Given the description of an element on the screen output the (x, y) to click on. 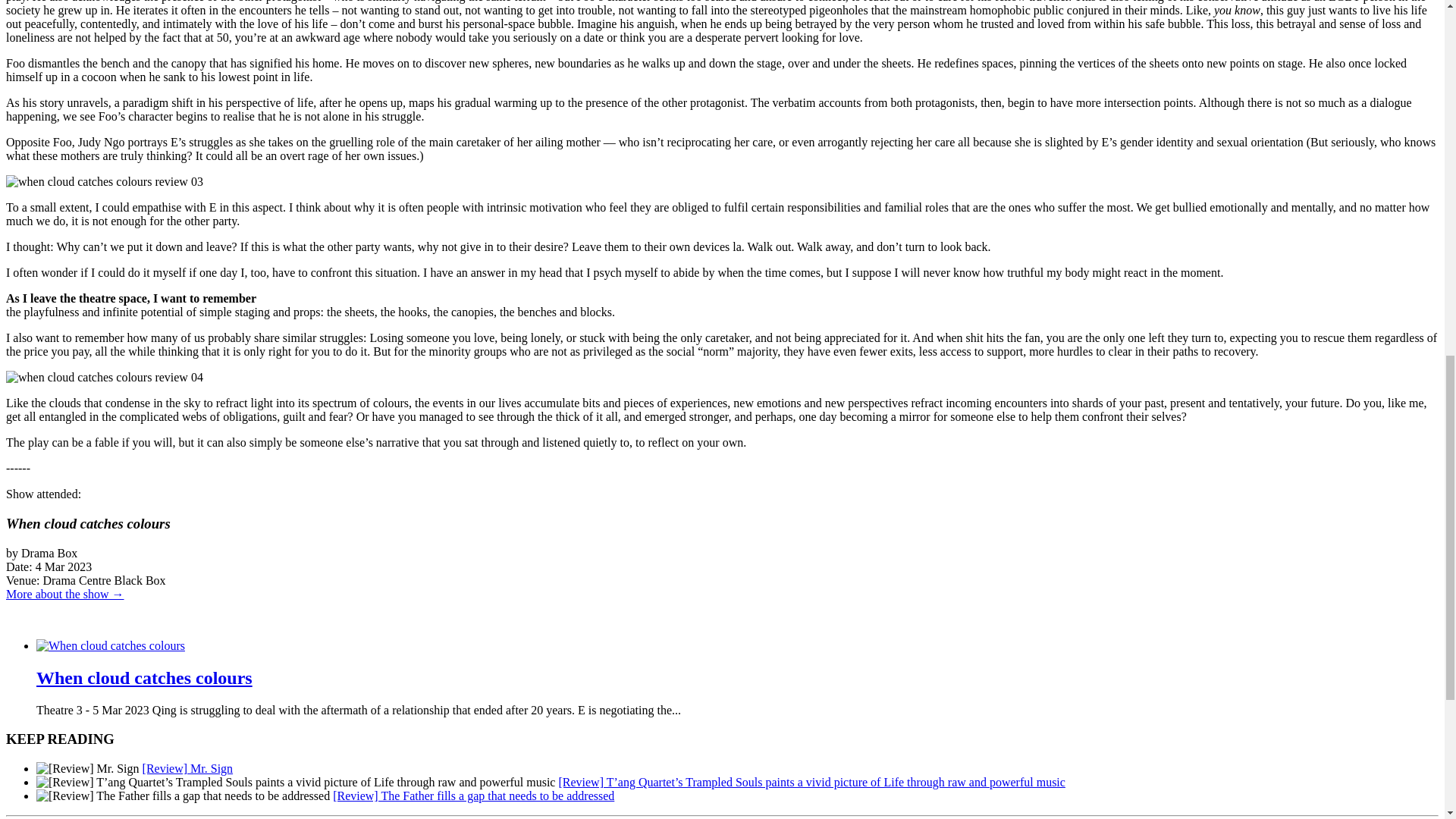
When cloud catches colours (143, 677)
